Given the description of an element on the screen output the (x, y) to click on. 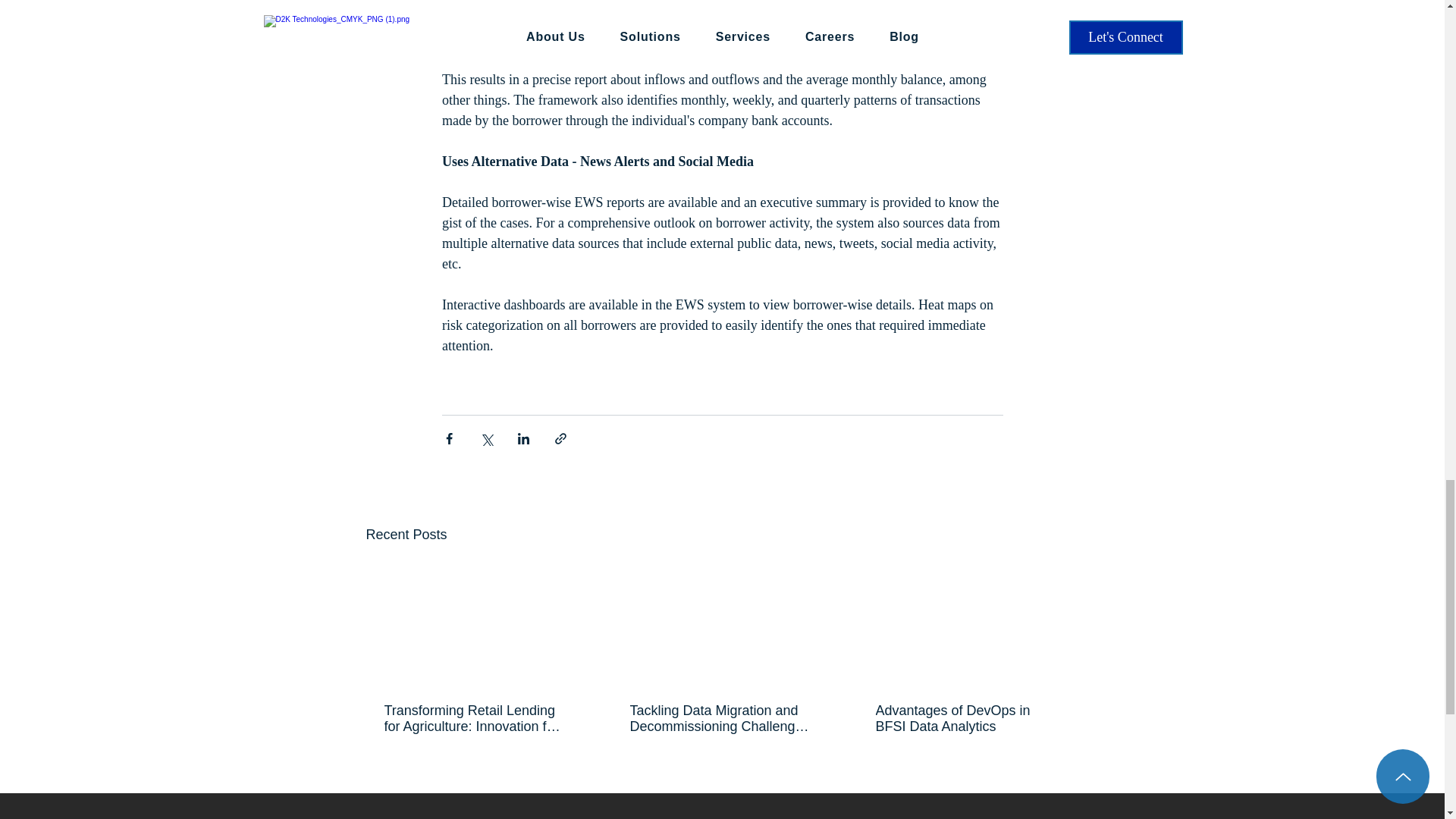
Advantages of DevOps in BFSI Data Analytics (966, 718)
